Given the description of an element on the screen output the (x, y) to click on. 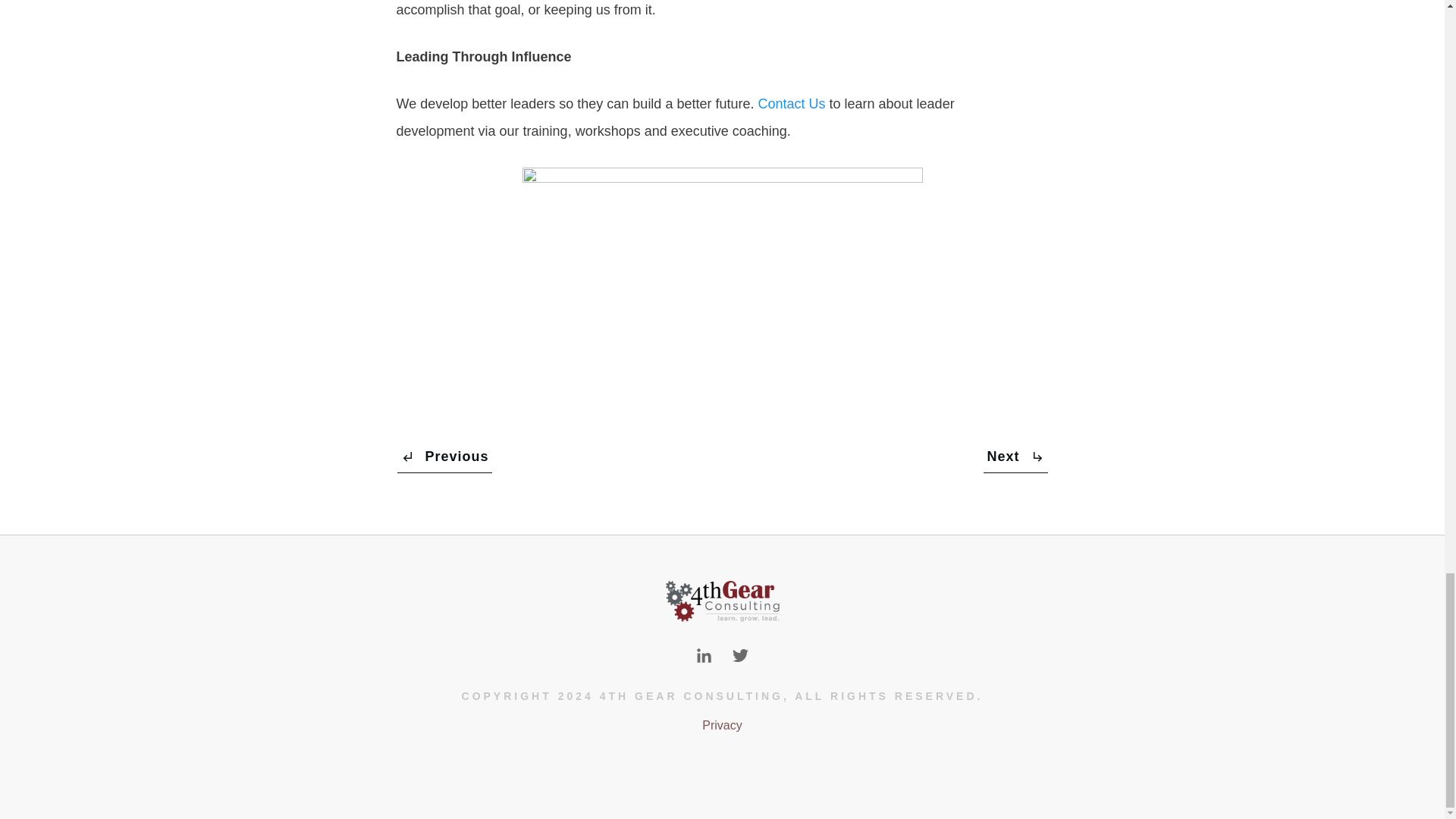
Next (1015, 457)
Contact Us (791, 103)
Privacy (721, 725)
Previous (444, 457)
